Given the description of an element on the screen output the (x, y) to click on. 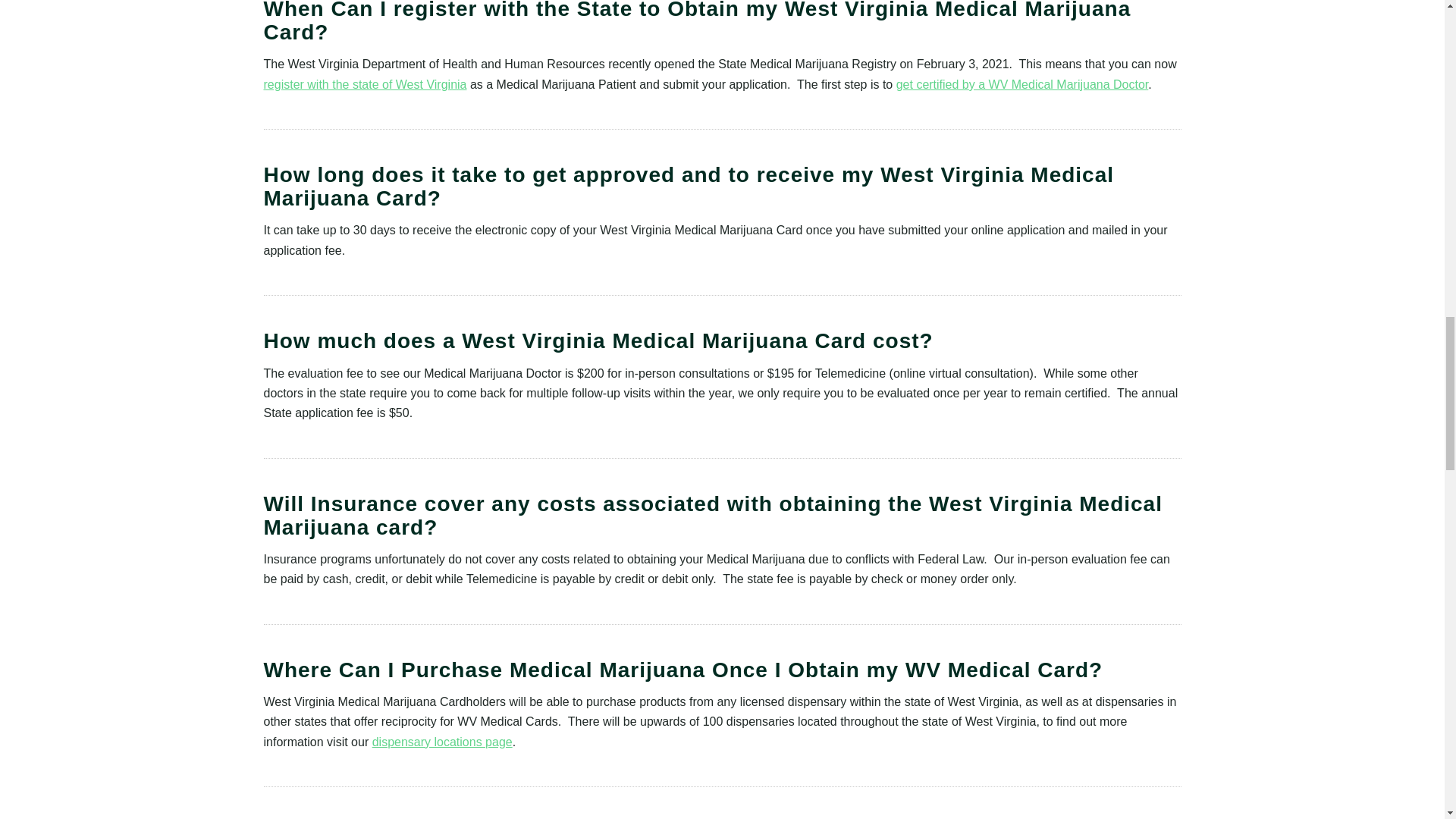
register with the state of West Virginia (365, 83)
get certified by a WV Medical Marijuana Doctor (1022, 83)
dispensary locations page (442, 741)
